Given the description of an element on the screen output the (x, y) to click on. 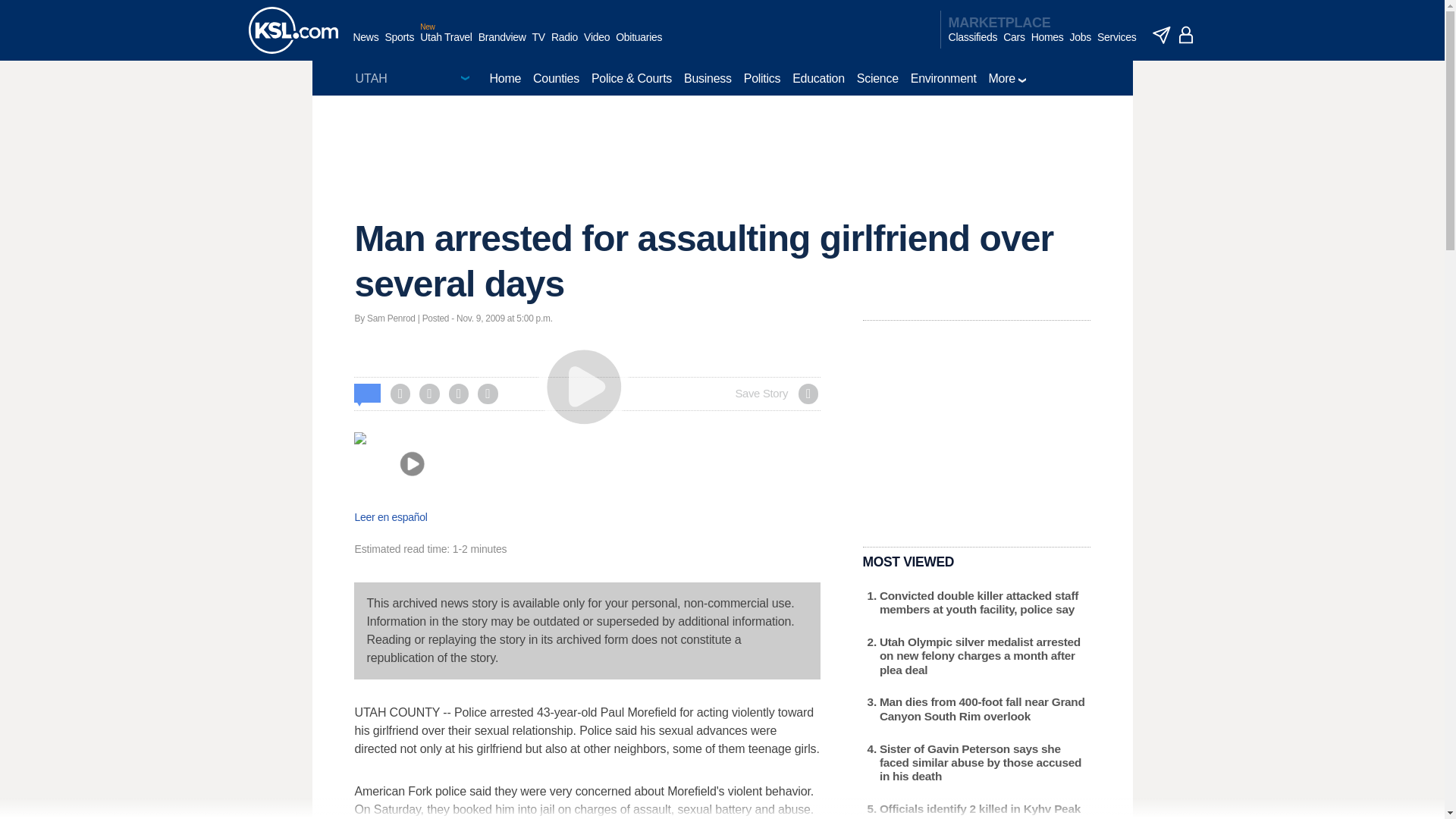
account - logged out (1185, 34)
KSL homepage (292, 30)
KSL homepage (292, 29)
Brandview (502, 45)
Utah Travel (445, 45)
Sports (398, 45)
